Given the description of an element on the screen output the (x, y) to click on. 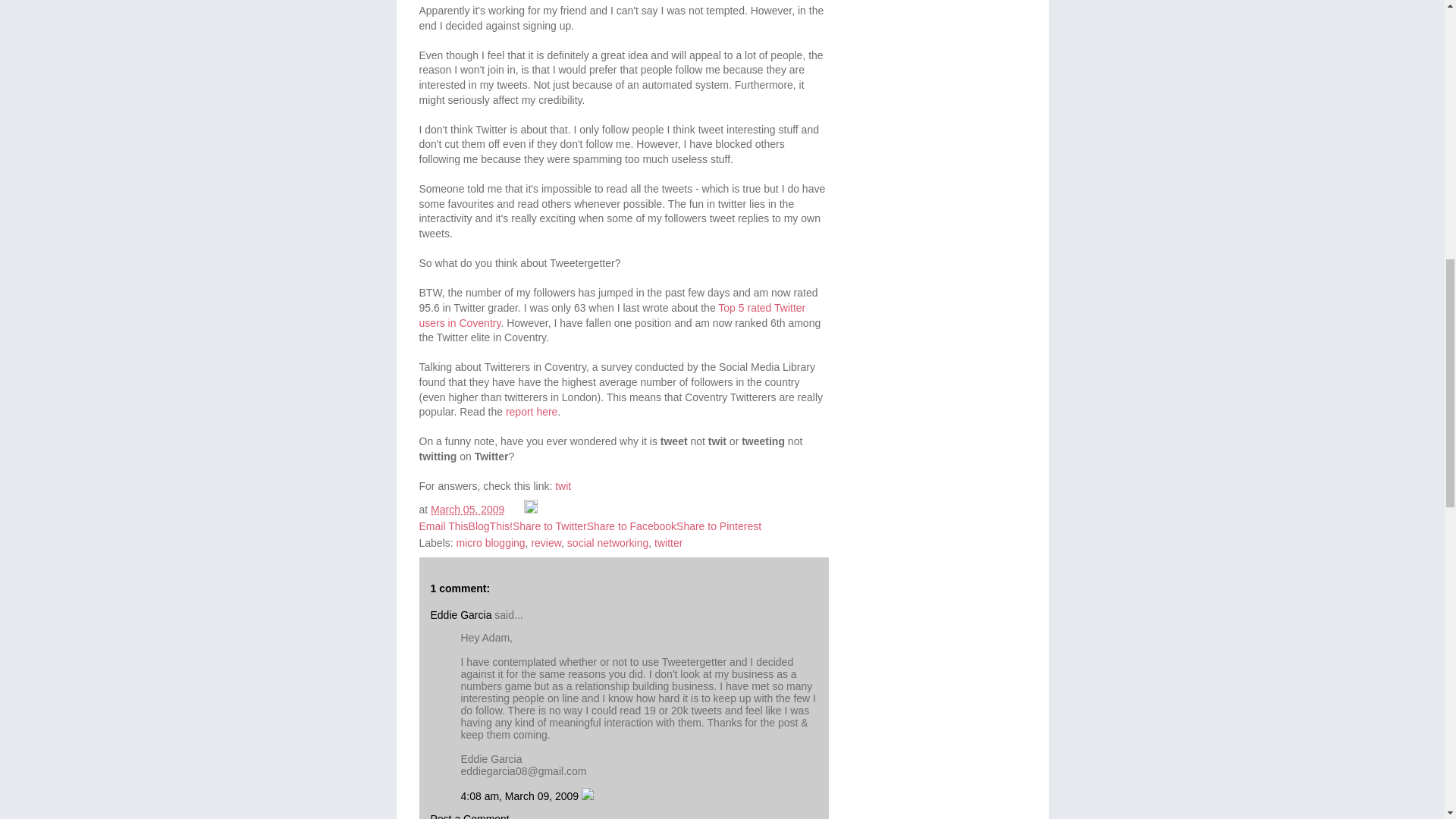
twitter (667, 542)
social networking (607, 542)
Edit Post (530, 509)
Share to Facebook (631, 526)
Share to Twitter (549, 526)
Email Post (515, 509)
twit (562, 485)
Share to Pinterest (719, 526)
Post a Comment (469, 816)
BlogThis! (490, 526)
4:08 am, March 09, 2009 (521, 796)
BlogThis! (490, 526)
Delete Comment (587, 796)
Email This (443, 526)
March 05, 2009 (466, 509)
